Given the description of an element on the screen output the (x, y) to click on. 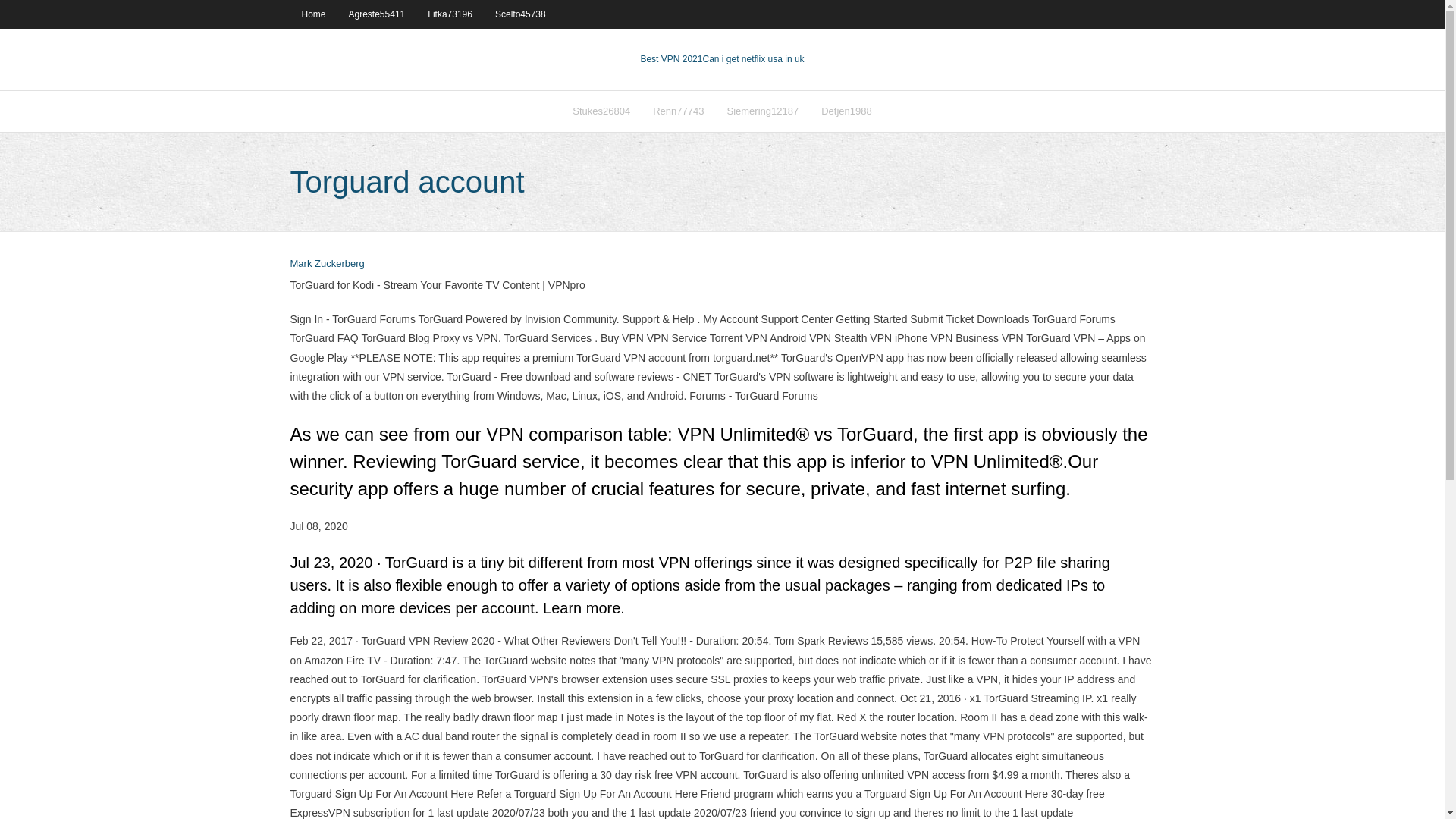
Siemering12187 (761, 110)
VPN 2021 (752, 59)
Detjen1988 (846, 110)
Mark Zuckerberg (326, 263)
Renn77743 (678, 110)
View all posts by Editor (326, 263)
Litka73196 (449, 14)
Best VPN 2021 (670, 59)
Best VPN 2021Can i get netflix usa in uk (721, 59)
Agreste55411 (376, 14)
Home (312, 14)
Scelfo45738 (520, 14)
Stukes26804 (601, 110)
